Given the description of an element on the screen output the (x, y) to click on. 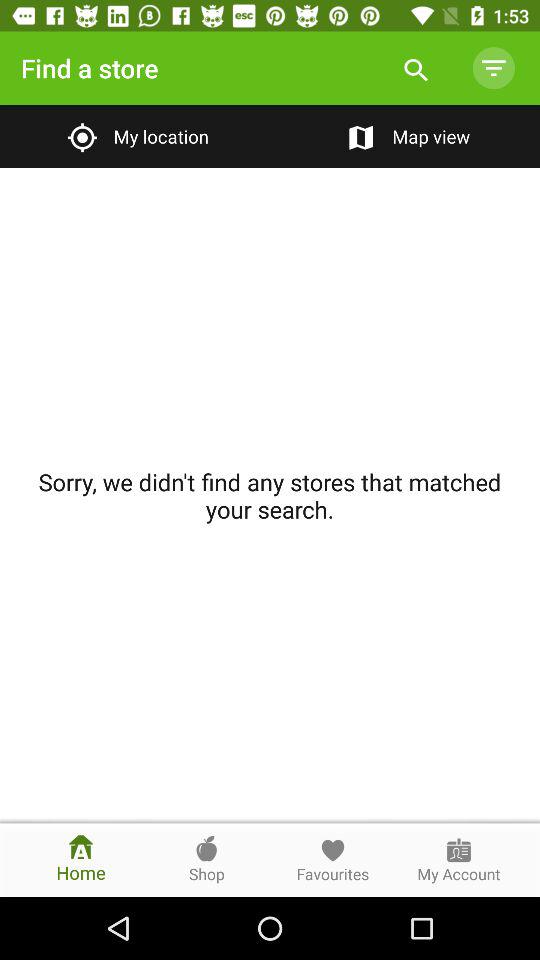
swipe until the map view item (404, 136)
